Given the description of an element on the screen output the (x, y) to click on. 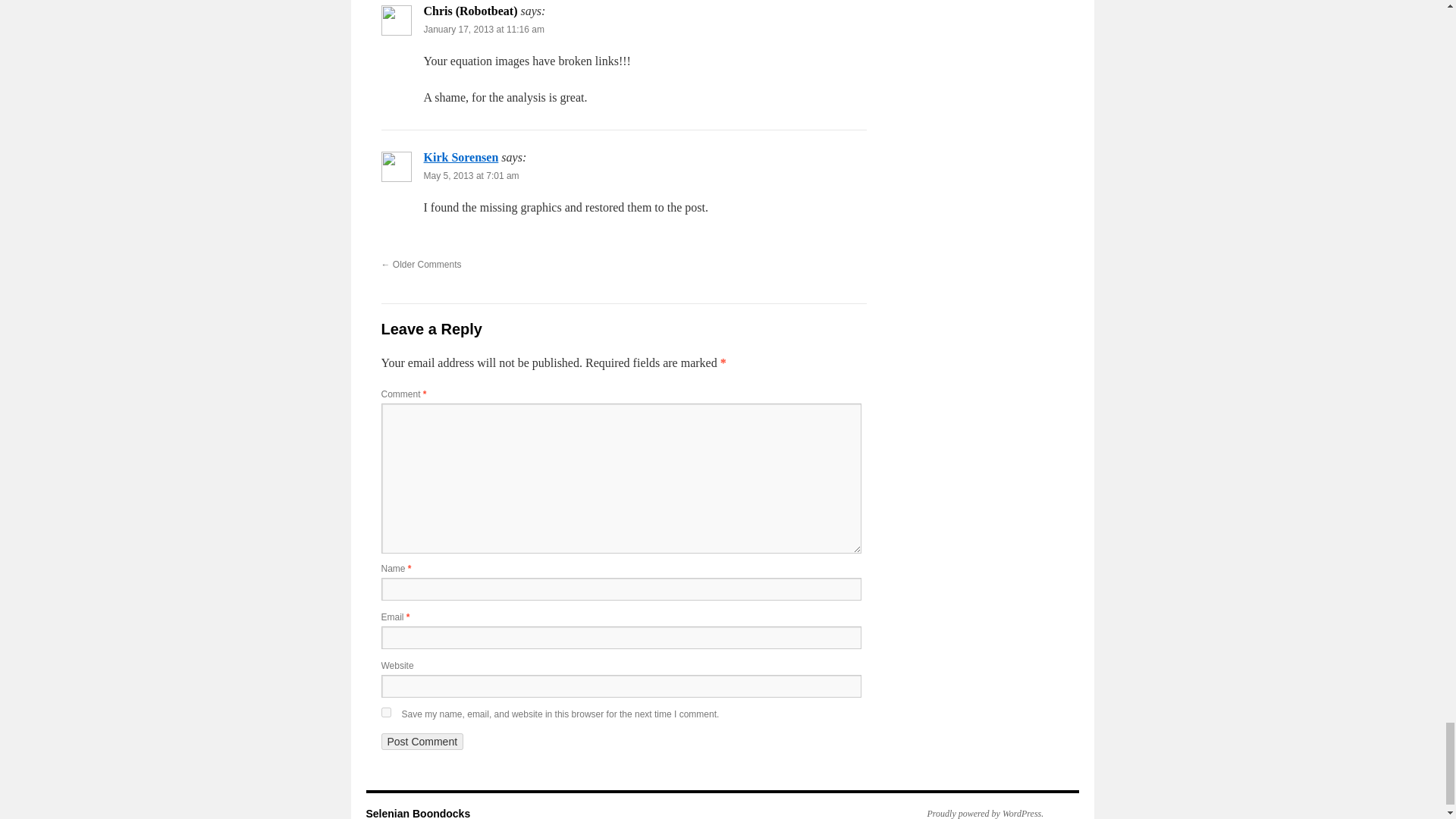
Post Comment (421, 741)
yes (385, 712)
